Given the description of an element on the screen output the (x, y) to click on. 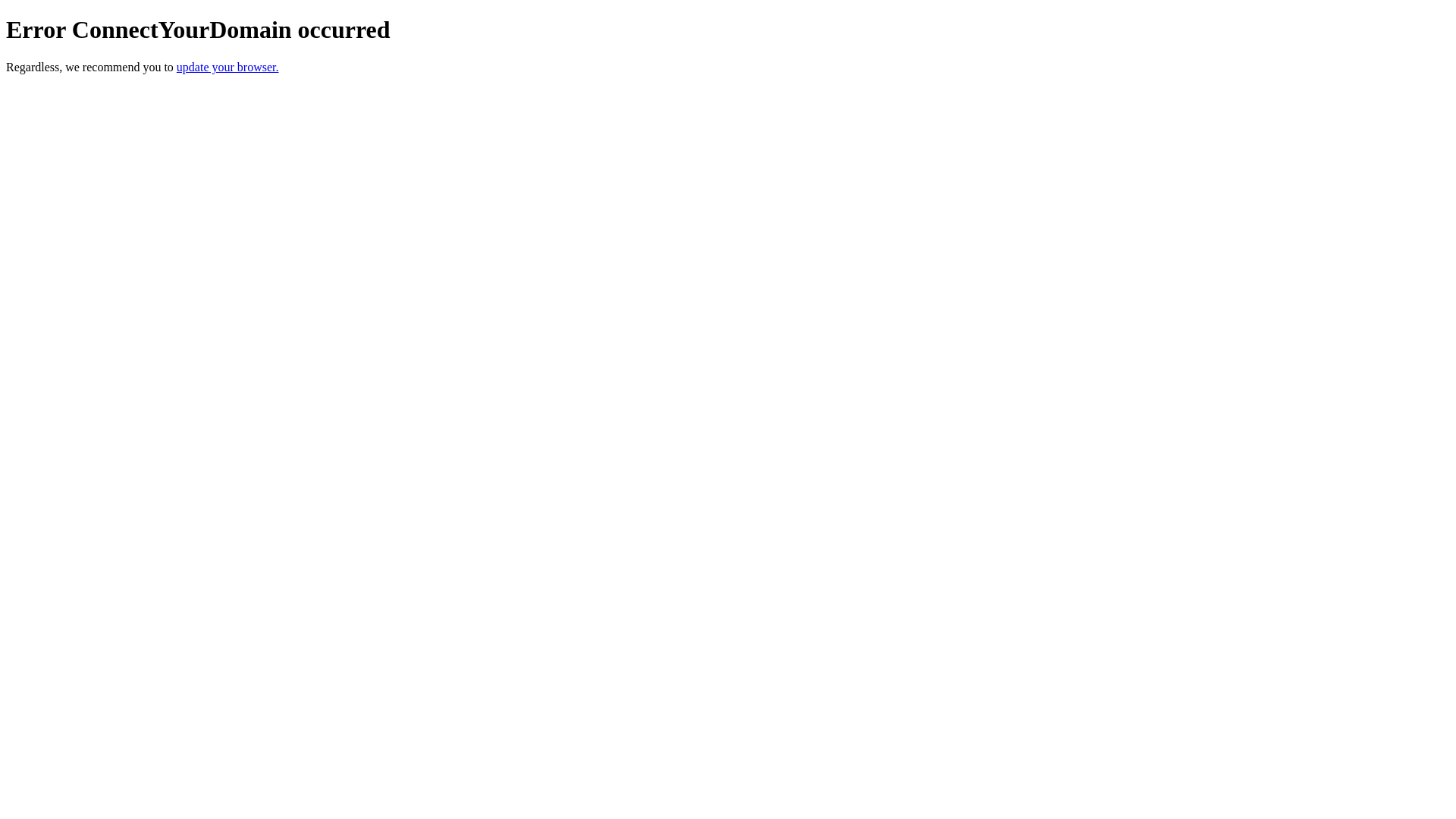
update your browser. Element type: text (227, 66)
